Given the description of an element on the screen output the (x, y) to click on. 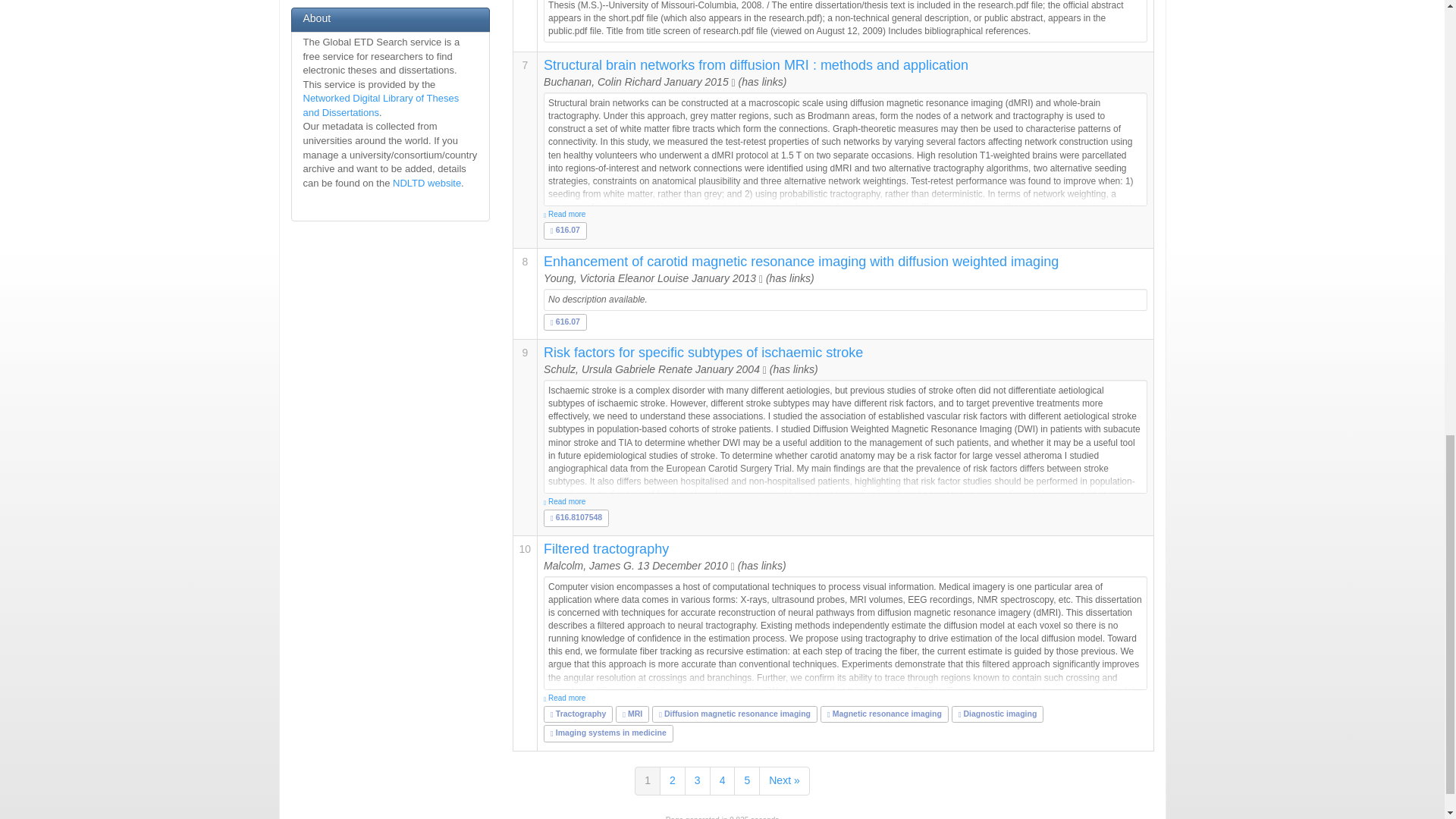
Read more (845, 214)
Risk factors for specific subtypes of ischaemic stroke (703, 352)
616.8107548 (576, 516)
616.07 (564, 320)
3 (697, 780)
Diagnostic imaging (997, 713)
MRI (632, 713)
Imaging systems in medicine (608, 732)
Filtered tractography (605, 548)
Diffusion magnetic resonance imaging (734, 713)
Read more (845, 697)
NDLTD website (427, 183)
Read more (845, 501)
4 (722, 780)
